Given the description of an element on the screen output the (x, y) to click on. 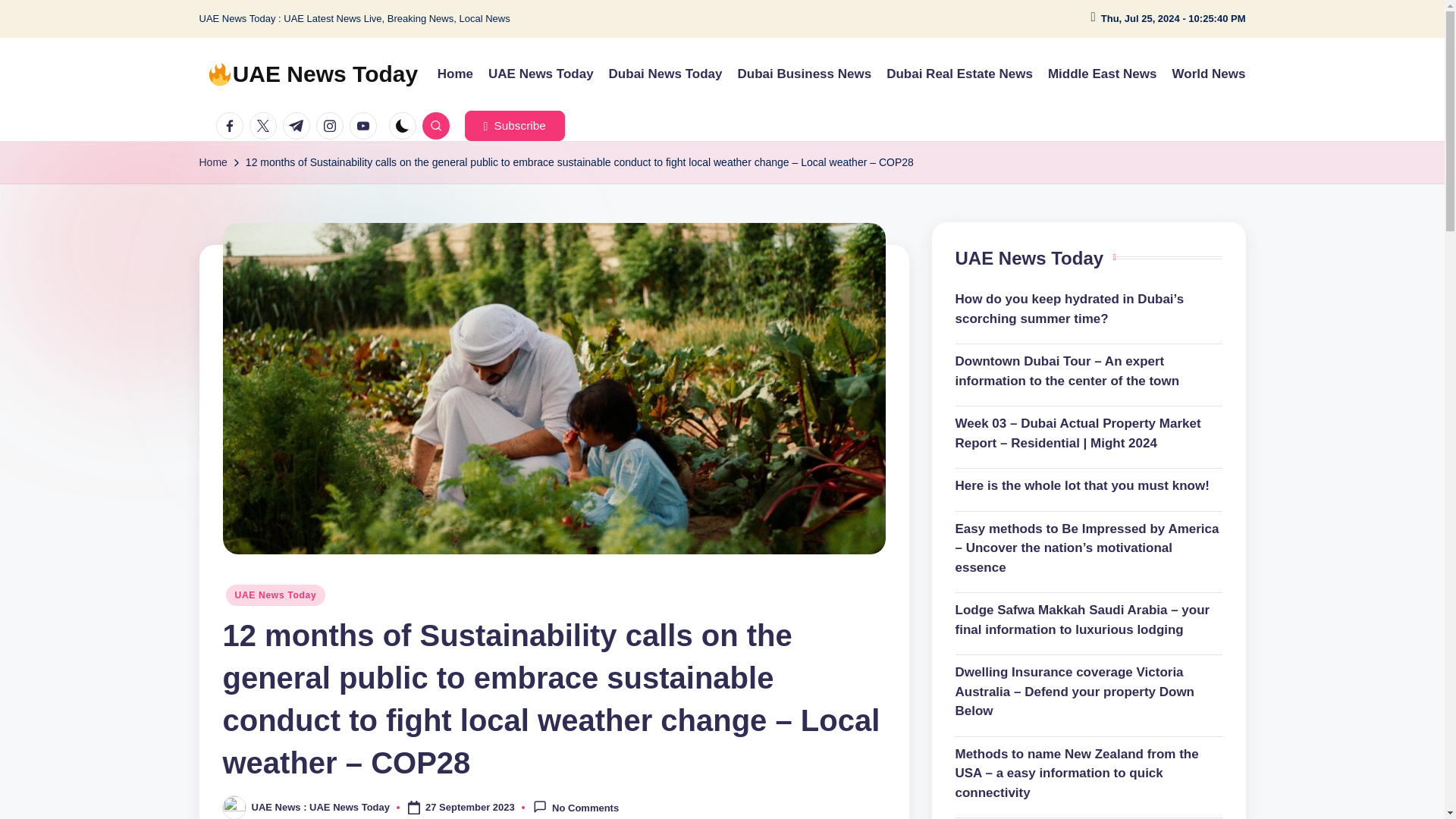
UAE News Today (311, 74)
UAE News Today (540, 74)
Dubai News Today (665, 74)
youtube.com (365, 125)
facebook.com (231, 125)
twitter.com (265, 125)
Middle East News (1102, 74)
instagram.com (332, 125)
Home (212, 162)
Home (455, 74)
Dubai Real Estate News (959, 74)
Dubai Business News (803, 74)
Subscribe (514, 125)
UAE News : UAE News Today (320, 807)
UAE News Today (275, 594)
